Given the description of an element on the screen output the (x, y) to click on. 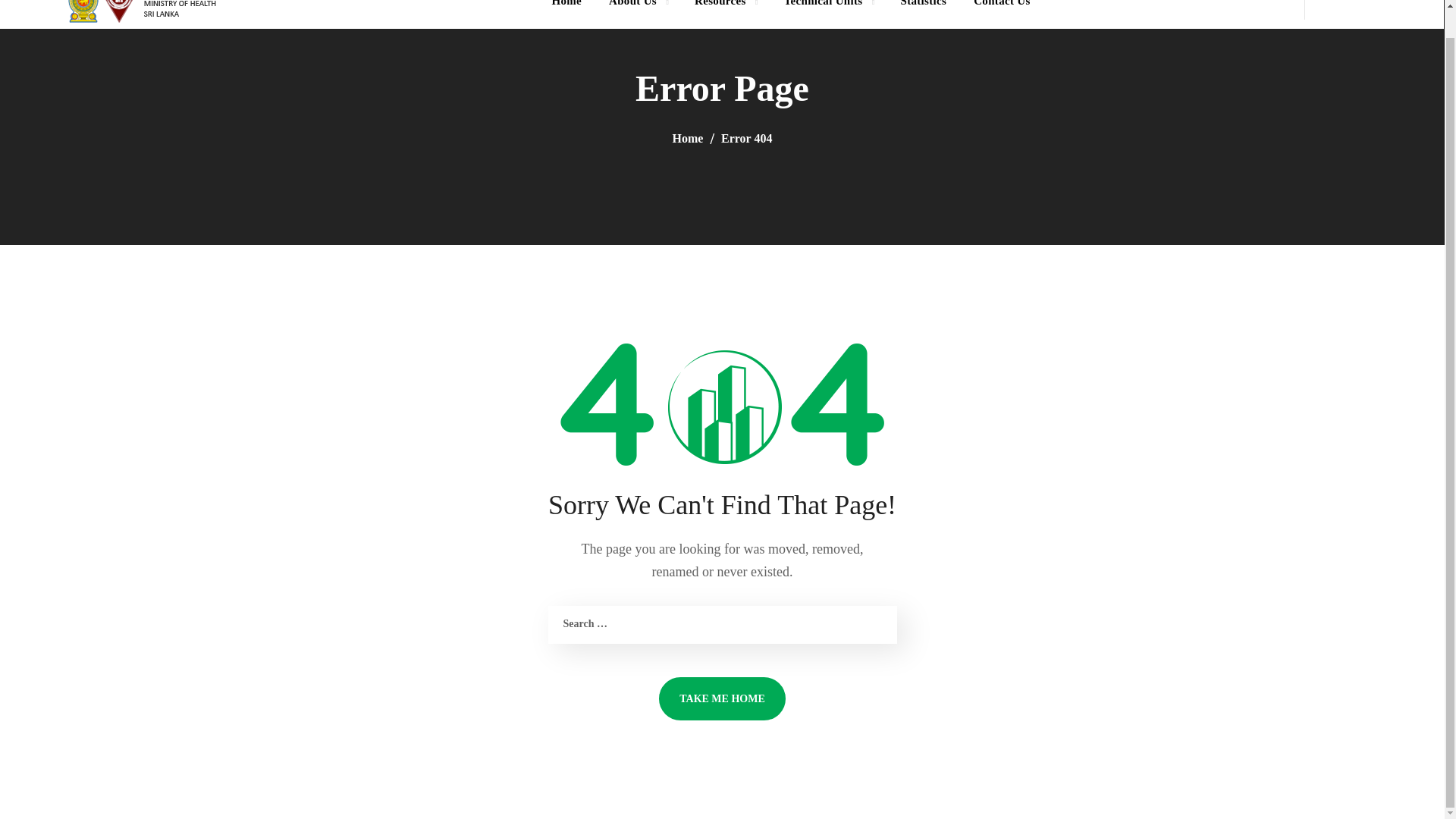
Statistics (922, 14)
Contact Us (1001, 14)
Search (1381, 66)
Technical Units (828, 14)
FHBlogo11 (146, 12)
Resources (725, 14)
Home (566, 14)
About Us (638, 14)
